Given the description of an element on the screen output the (x, y) to click on. 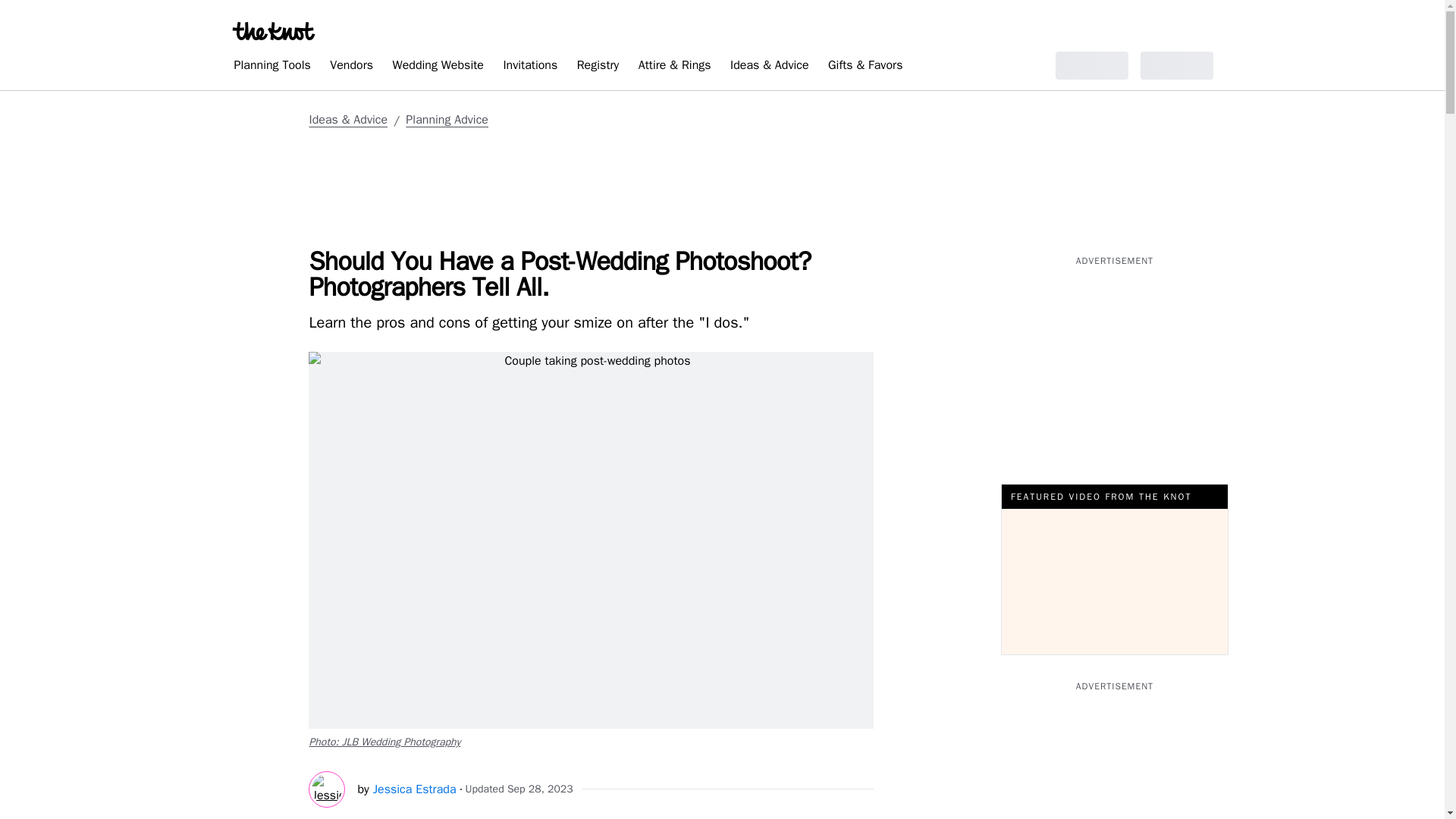
Planning Tools (271, 67)
Wedding Website (438, 67)
Registry (598, 67)
Invitations (529, 67)
Vendors (350, 67)
